Given the description of an element on the screen output the (x, y) to click on. 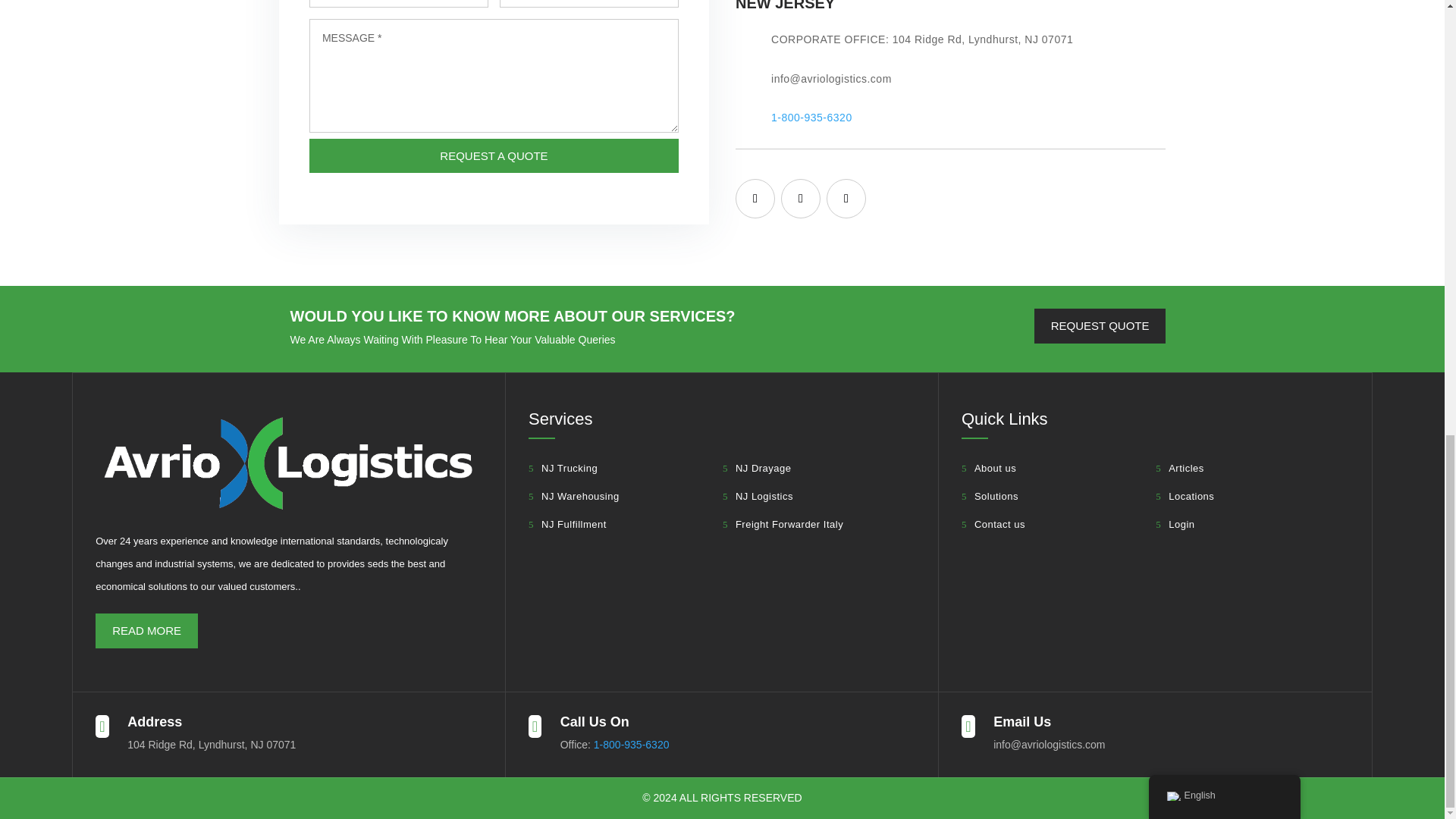
NJ Logistics (757, 496)
Follow on Facebook (754, 198)
Avrio-Logistics-white-lettering-clear-bg (288, 463)
REQUEST QUOTE (1099, 325)
About us (988, 468)
Follow on X (800, 198)
Follow on Instagram (846, 198)
Only numbers allowed. (588, 3)
NJ Fulfillment (567, 524)
Articles (1180, 468)
